Given the description of an element on the screen output the (x, y) to click on. 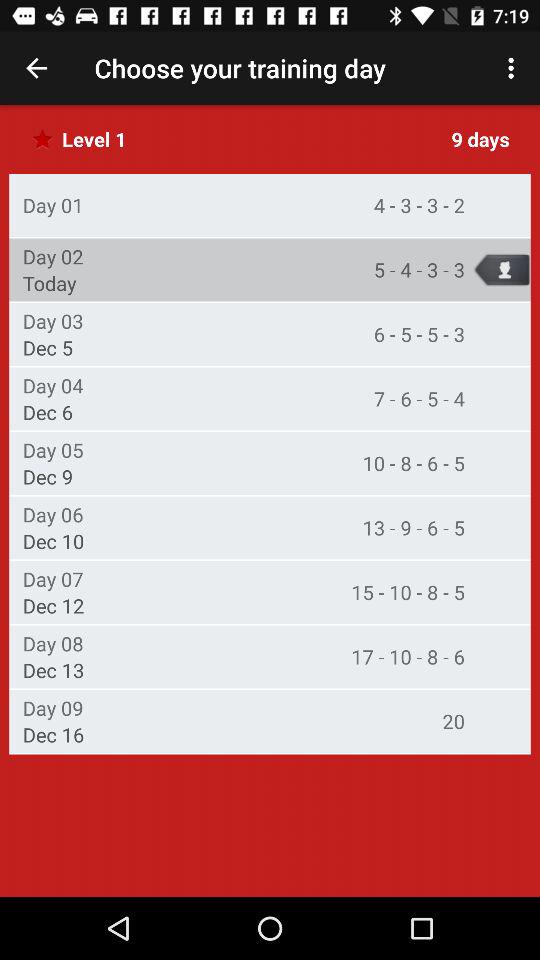
turn on the icon above day 08 icon (53, 605)
